Given the description of an element on the screen output the (x, y) to click on. 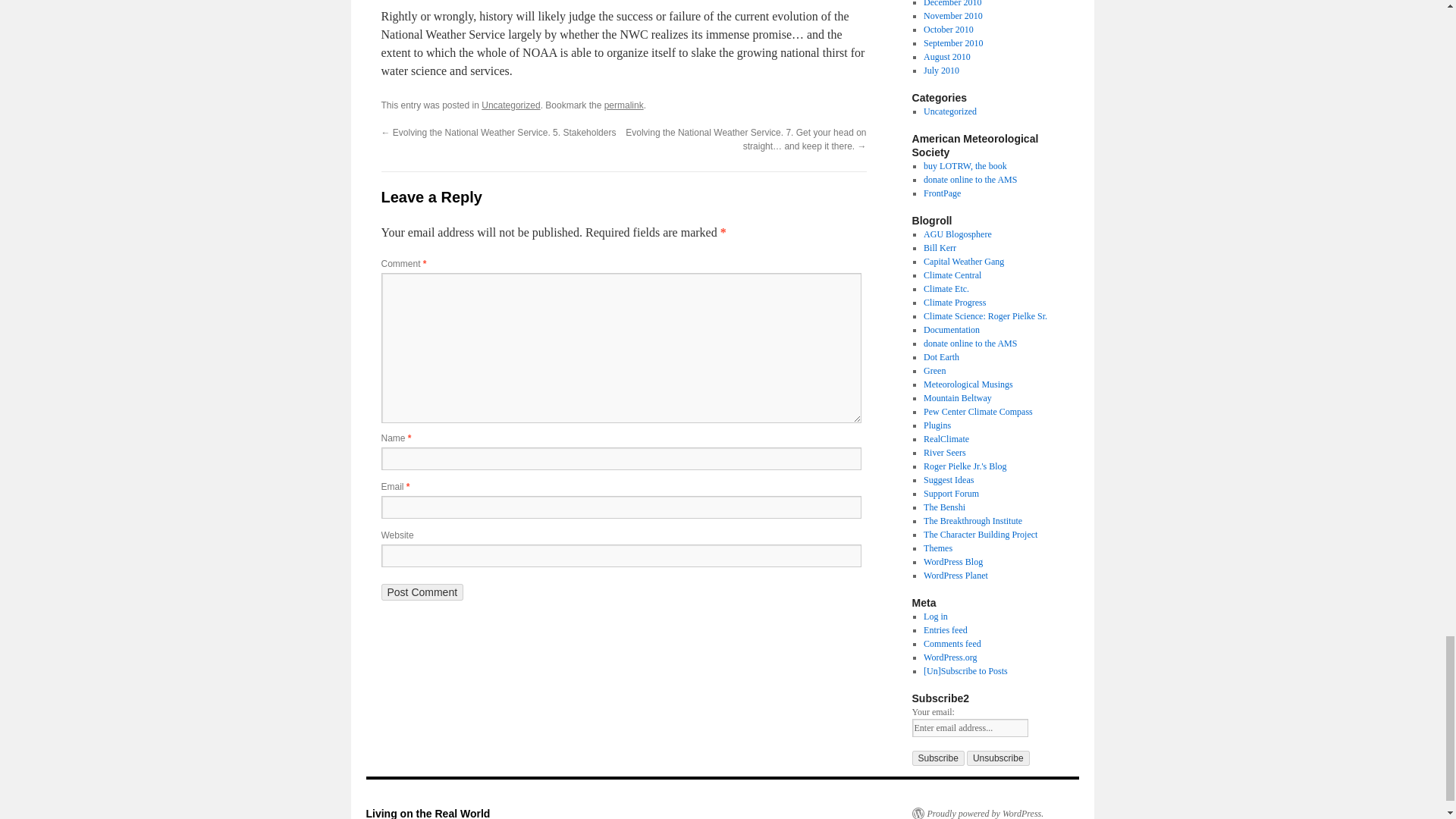
Uncategorized (510, 104)
permalink (623, 104)
Enter email address... (969, 728)
support the work of the AMS Policy Program (969, 179)
Blog of the American Meteorological Society (941, 193)
Post Comment (421, 591)
Post Comment (421, 591)
Unsubscribe (997, 758)
Subscribe (937, 758)
support the work of the AMS Policy Program (969, 343)
